Given the description of an element on the screen output the (x, y) to click on. 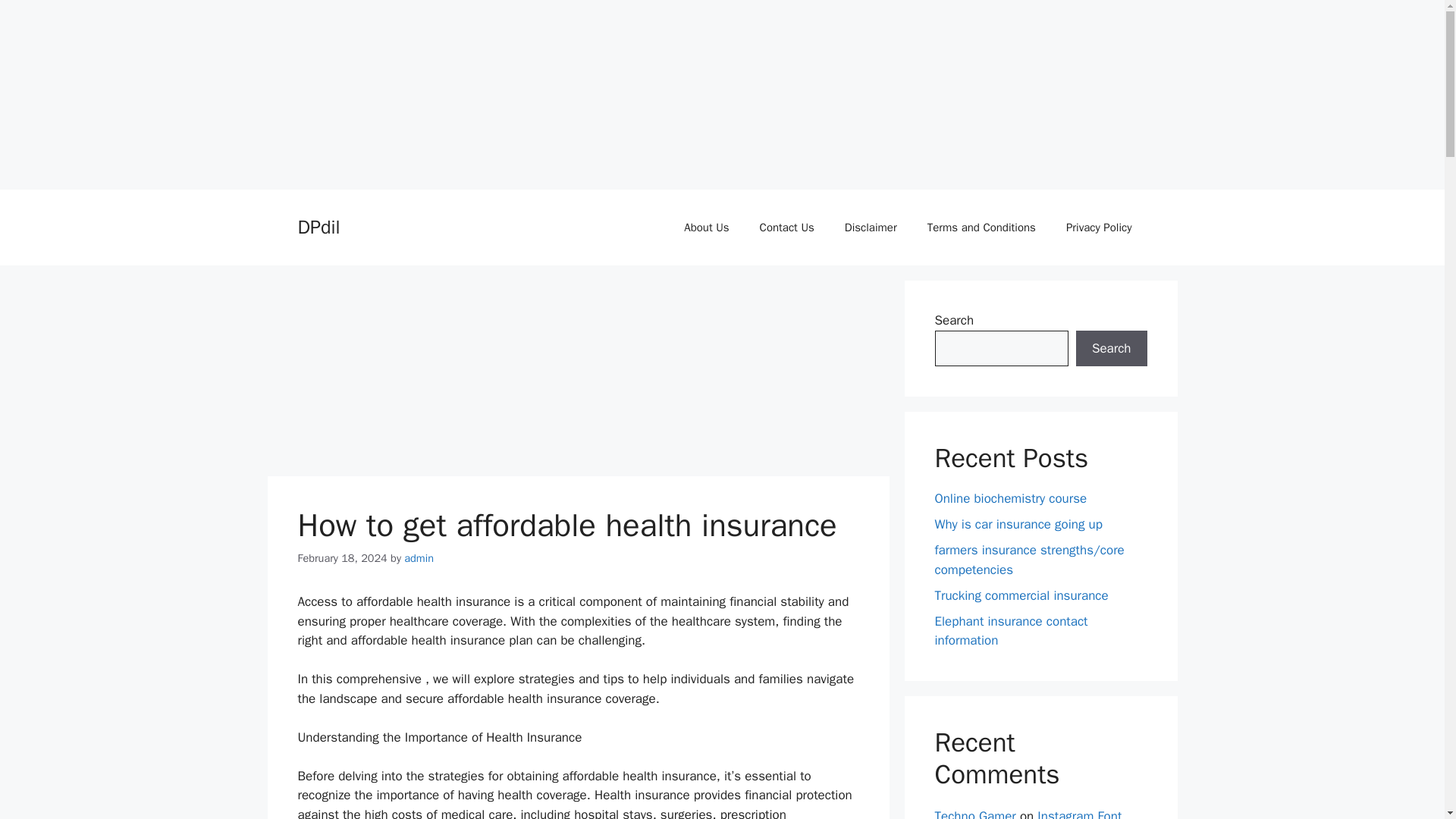
Techno Gamer (974, 813)
Elephant insurance contact information (1010, 630)
Trucking commercial insurance (1021, 594)
Privacy Policy (1099, 227)
admin (418, 558)
Why is car insurance going up (1018, 524)
Instagram Font Stylish Kaise Banaye (1027, 813)
View all posts by admin (418, 558)
About Us (706, 227)
DPdil (318, 227)
